Given the description of an element on the screen output the (x, y) to click on. 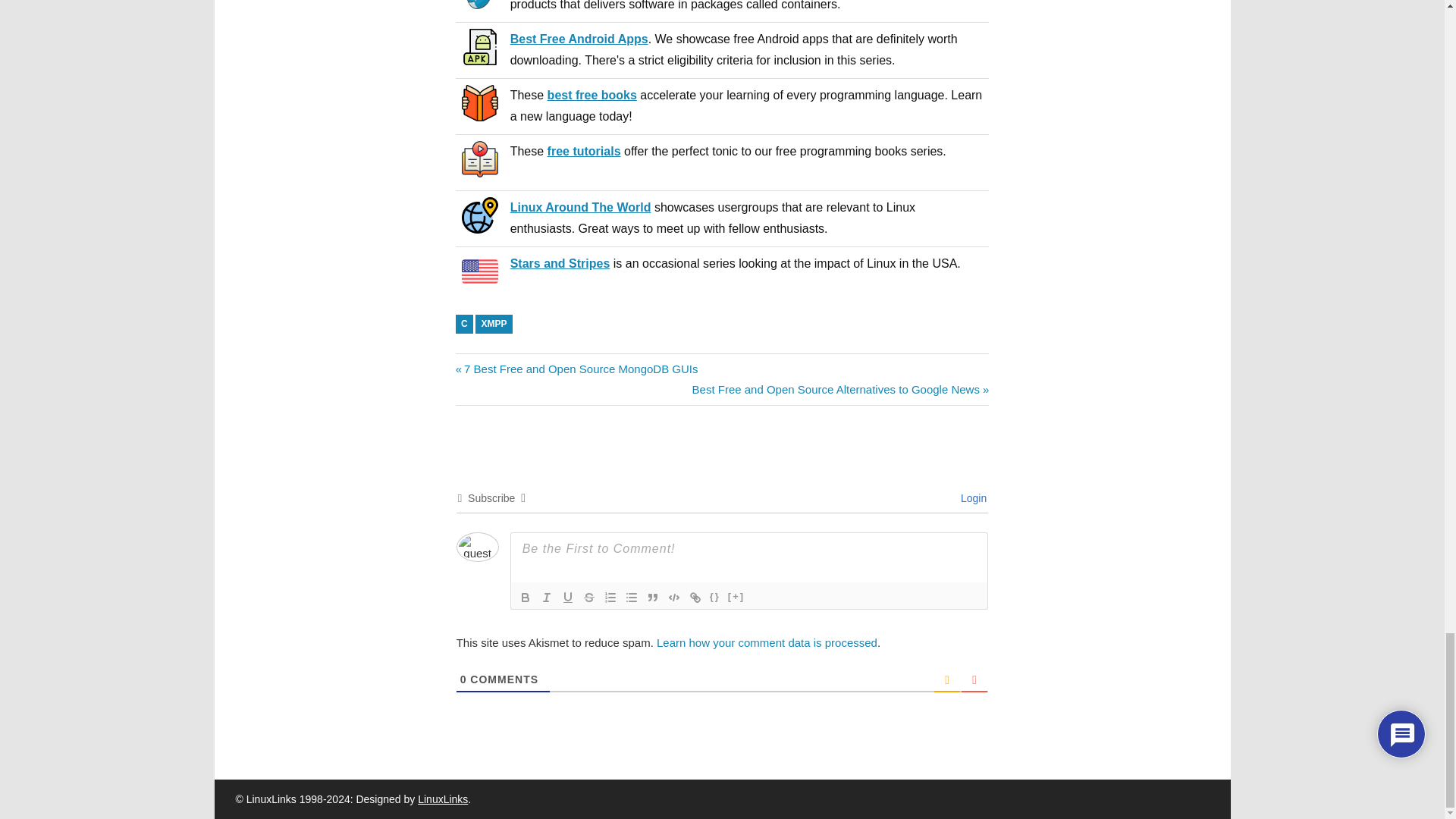
Strike (588, 597)
Underline (567, 597)
Blockquote (652, 597)
Source Code (714, 597)
Unordered List (631, 597)
Ordered List (610, 597)
Bold (525, 597)
Link (695, 597)
Code Block (673, 597)
Italic (546, 597)
